Given the description of an element on the screen output the (x, y) to click on. 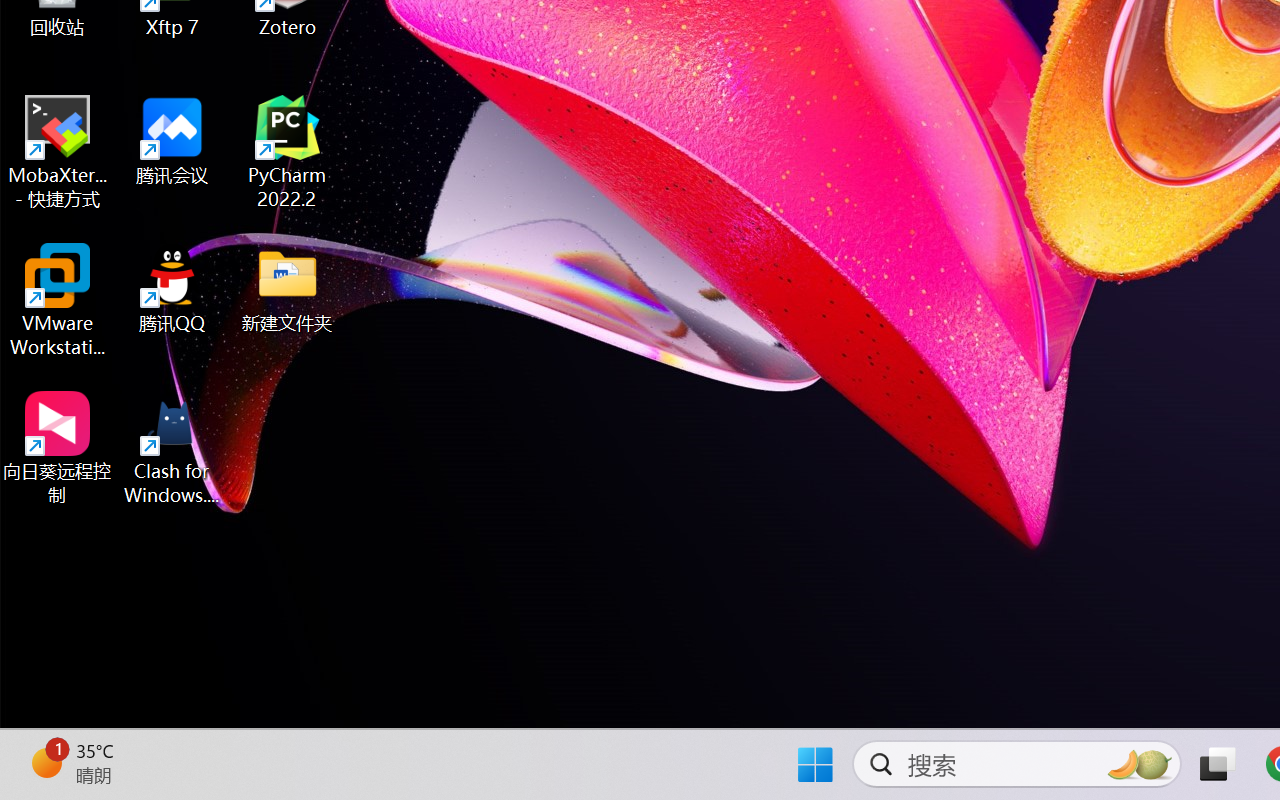
VMware Workstation Pro (57, 300)
PyCharm 2022.2 (287, 152)
